Given the description of an element on the screen output the (x, y) to click on. 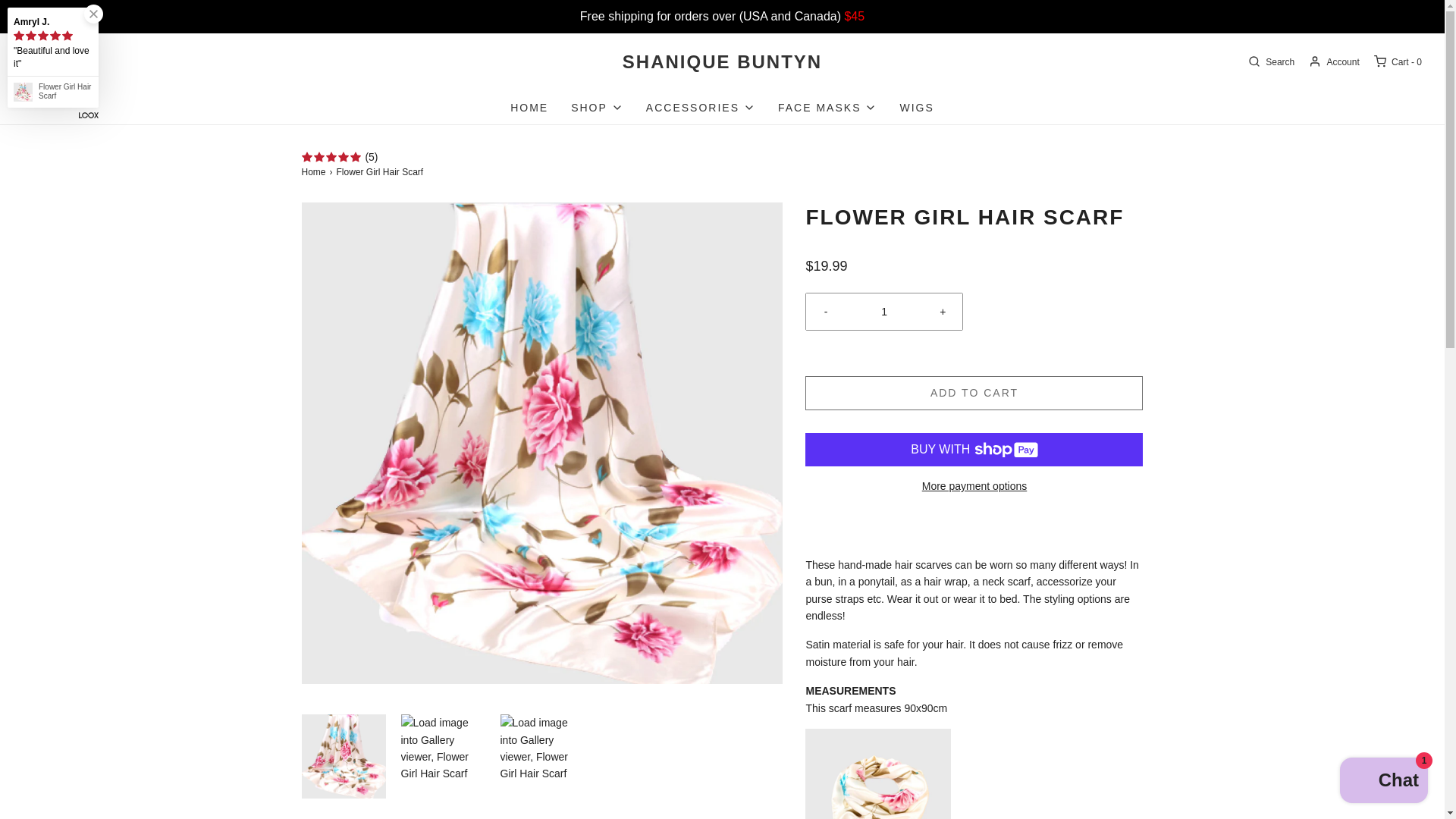
WIGS (916, 107)
Search (1269, 62)
SHOP (596, 107)
Flower Girl Hair Scarf (66, 91)
HOME (529, 107)
SHANIQUE BUNTYN (721, 62)
Cart - 0 (1396, 62)
Log in (1332, 62)
Shopify online store chat (1383, 781)
Search (1269, 62)
ACCESSORIES (700, 107)
1 (884, 311)
FACE MASKS (826, 107)
Cart (1396, 62)
Beautiful and love it  (53, 57)
